Given the description of an element on the screen output the (x, y) to click on. 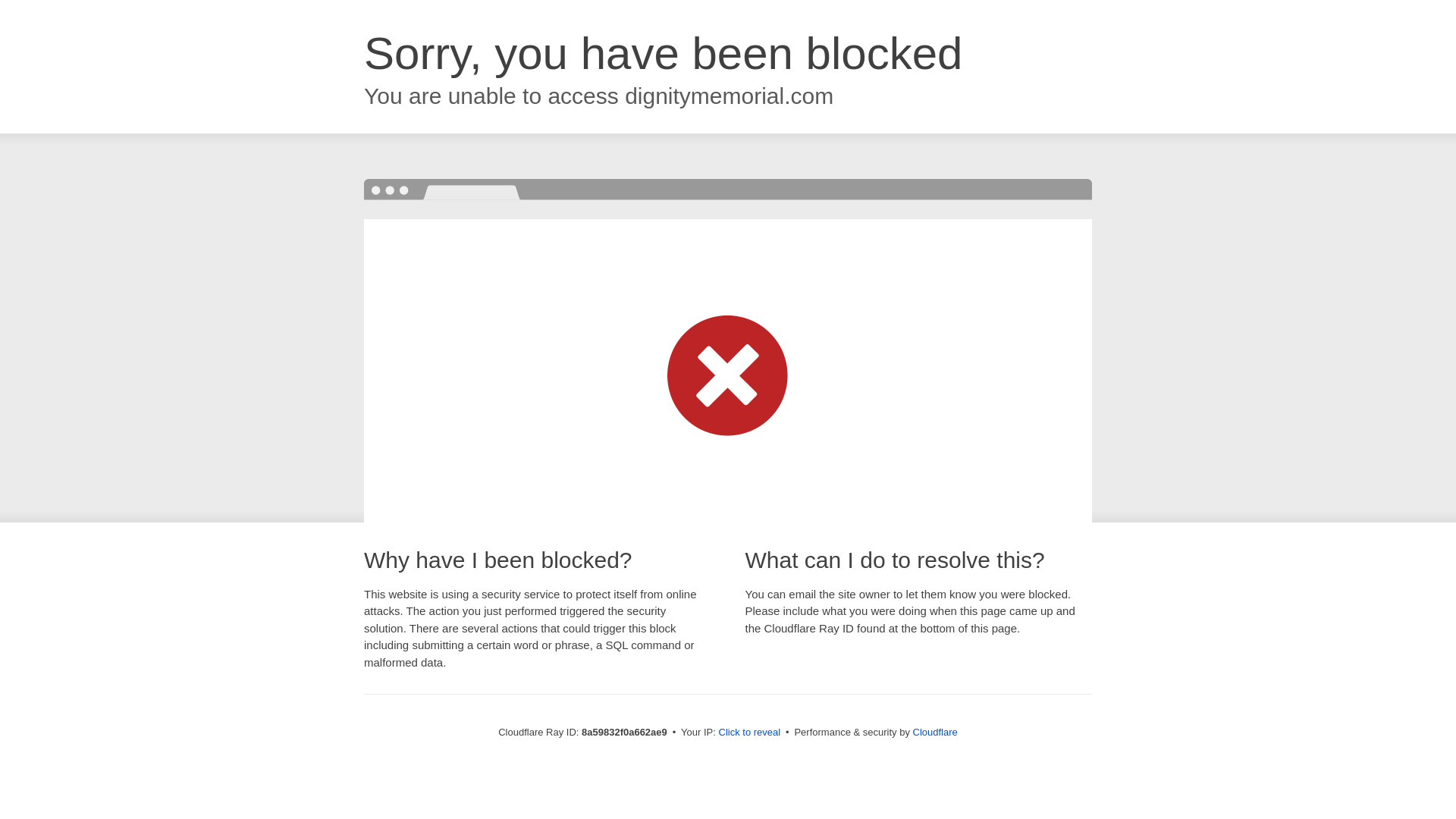
Click to reveal (749, 732)
Cloudflare (935, 731)
